Given the description of an element on the screen output the (x, y) to click on. 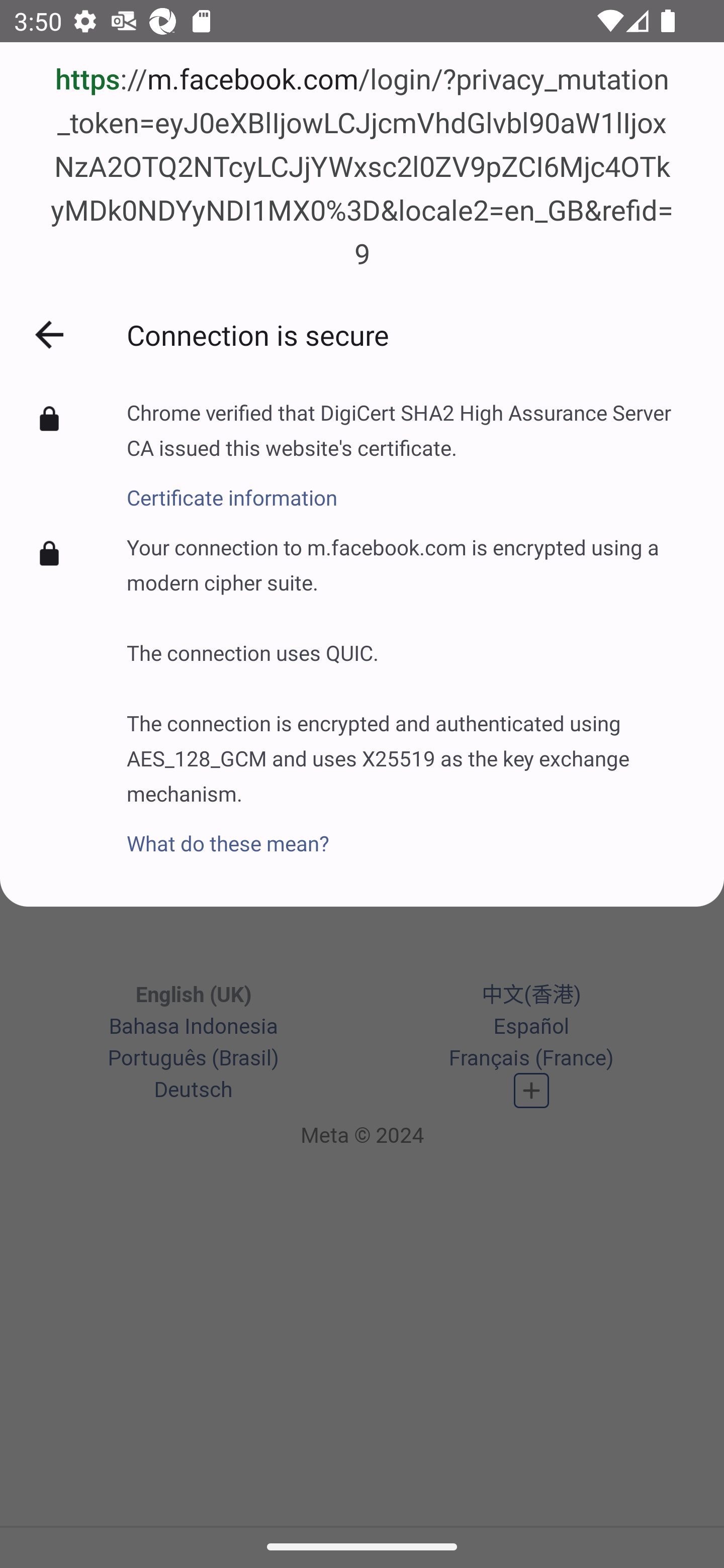
Back (49, 334)
Certificate information (410, 486)
What do these mean? (410, 832)
